Given the description of an element on the screen output the (x, y) to click on. 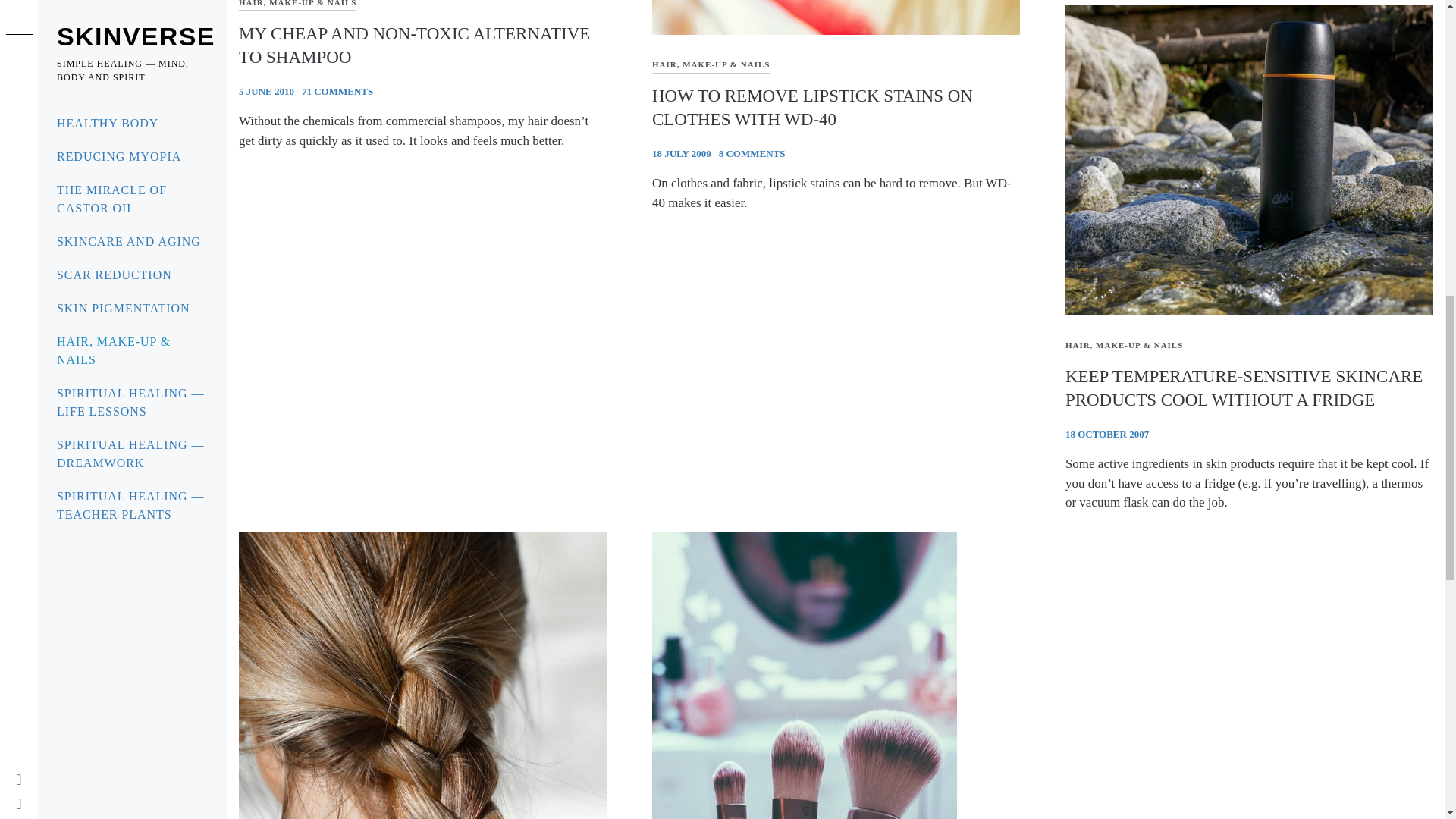
8 COMMENTS (752, 153)
HOW TO REMOVE LIPSTICK STAINS ON CLOTHES WITH WD-40 (812, 107)
71 COMMENTS (336, 91)
18 JULY 2009 (681, 153)
MY CHEAP AND NON-TOXIC ALTERNATIVE TO SHAMPOO (413, 45)
5 JUNE 2010 (266, 91)
